Given the description of an element on the screen output the (x, y) to click on. 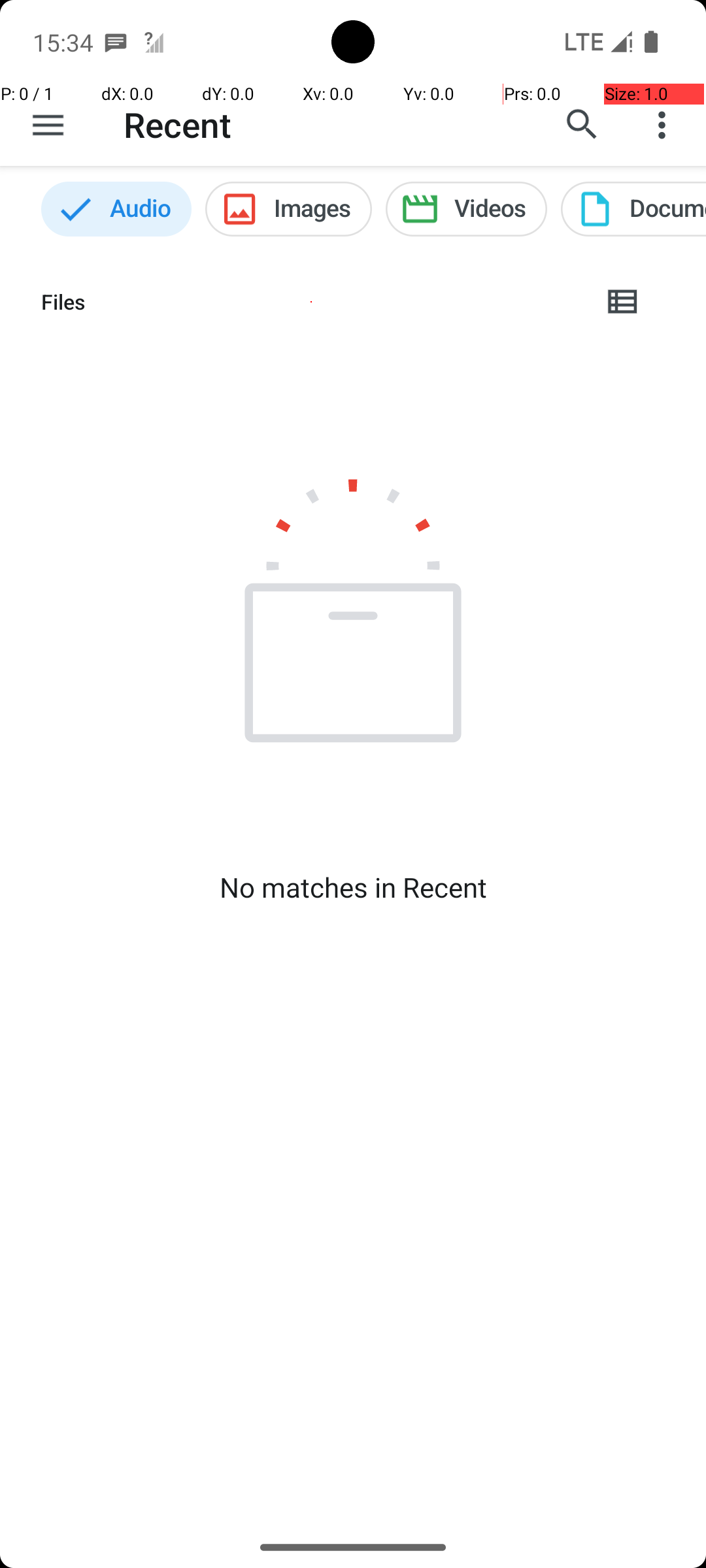
No matches in Recent Element type: android.widget.TextView (352, 886)
